Given the description of an element on the screen output the (x, y) to click on. 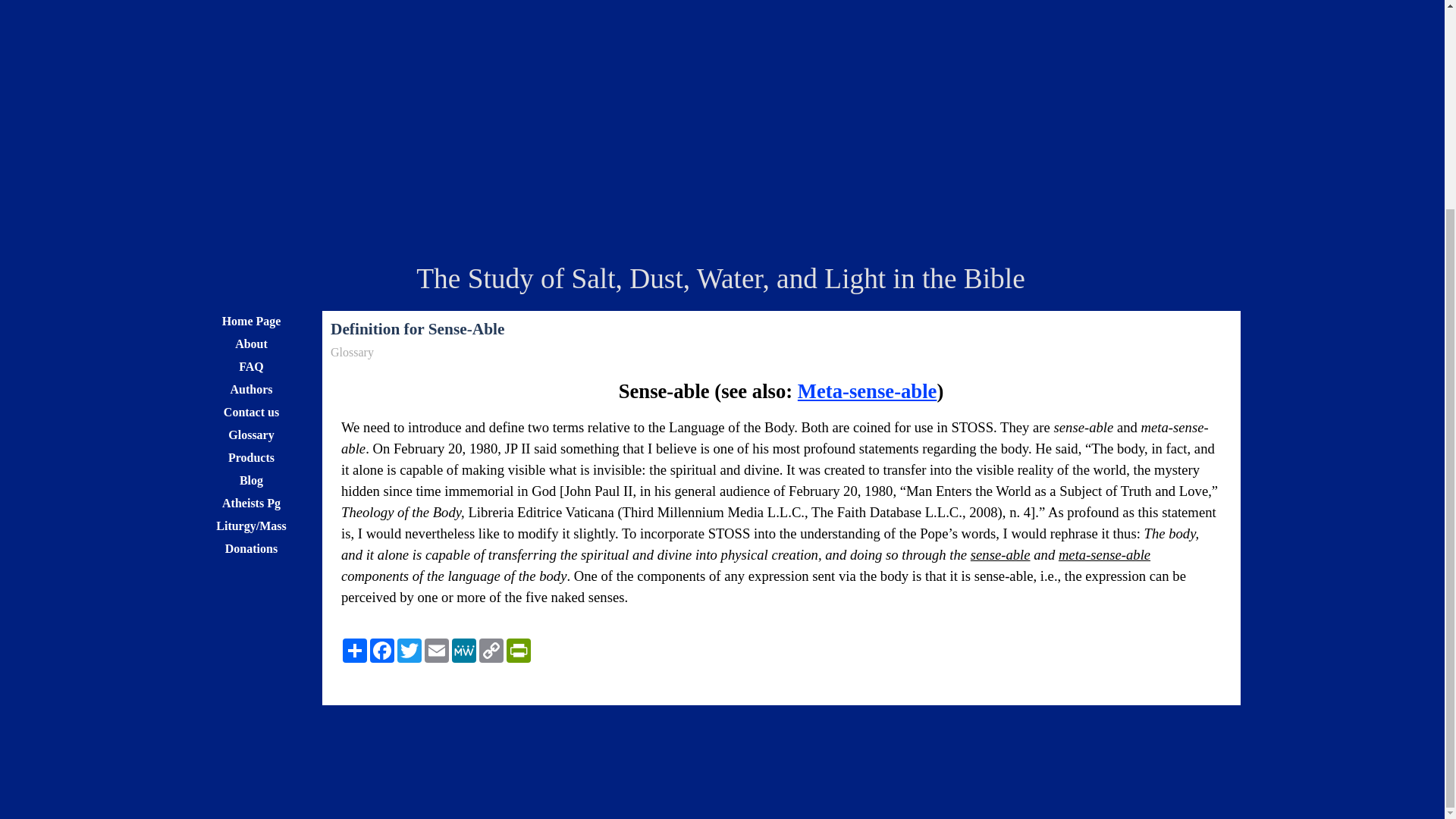
Contact us (251, 412)
FAQ (251, 366)
Home Page (251, 321)
Blog (251, 480)
